Given the description of an element on the screen output the (x, y) to click on. 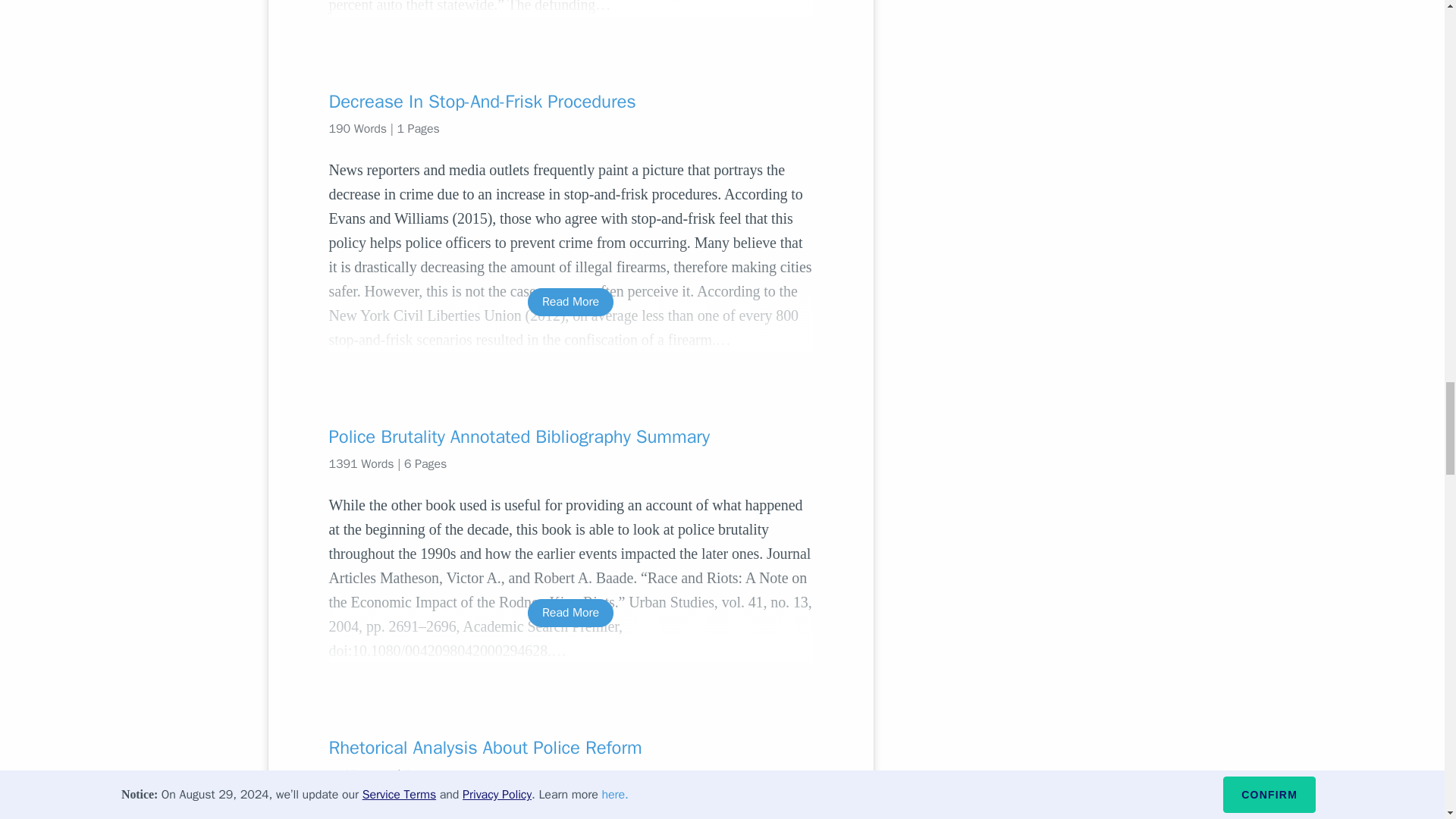
Rhetorical Analysis About Police Reform (570, 747)
Read More (569, 612)
Read More (569, 816)
Police Brutality Annotated Bibliography Summary (570, 436)
Read More (569, 302)
Decrease In Stop-And-Frisk Procedures (570, 101)
